Given the description of an element on the screen output the (x, y) to click on. 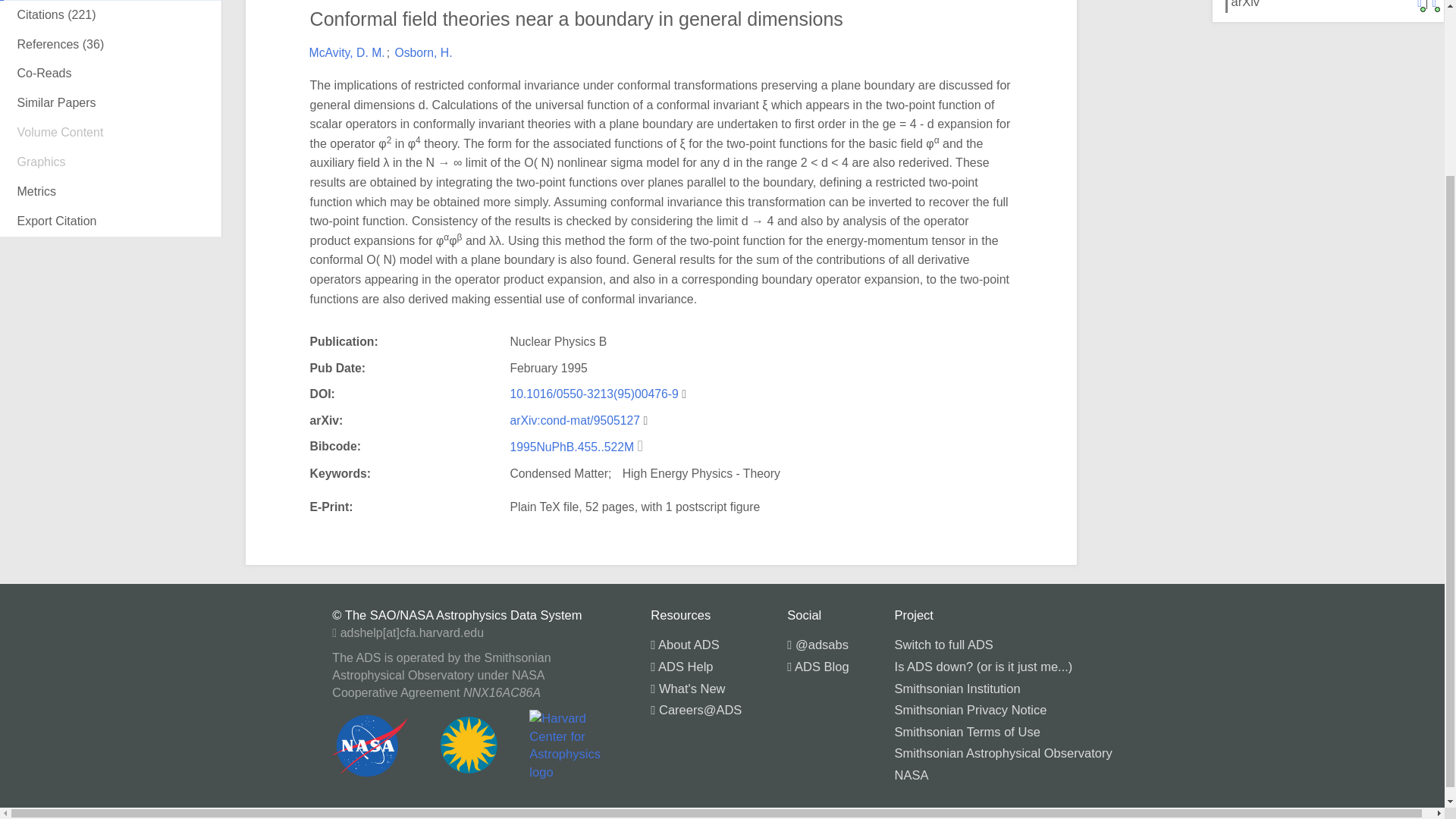
ADS Blog (817, 666)
Switch to full ADS (943, 644)
Abstract (110, 12)
Co-Reads (110, 73)
Similar Papers (110, 102)
About ADS (684, 644)
Smithsonian Terms of Use (968, 731)
Export Citation (110, 221)
Smithsonian Institution (957, 688)
Osborn, H. (422, 51)
